Given the description of an element on the screen output the (x, y) to click on. 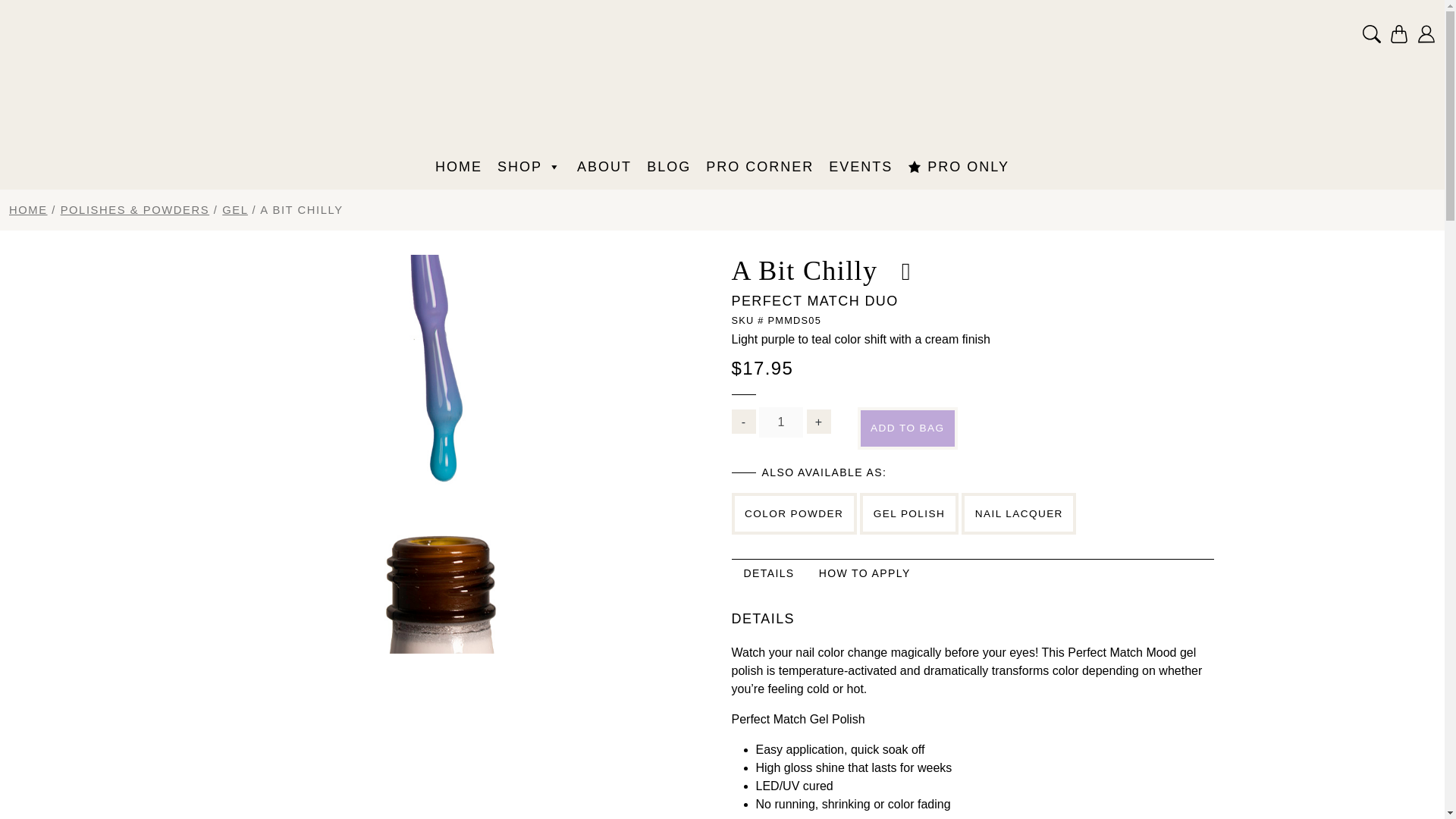
GEL (234, 209)
PRO CORNER (759, 166)
LeChat Nails (722, 81)
BLOG (971, 581)
HOME (668, 166)
ABOUT (458, 166)
PRO ONLY (604, 166)
SHOP (957, 166)
1 (529, 166)
HOME (780, 422)
EVENTS (28, 209)
